Given the description of an element on the screen output the (x, y) to click on. 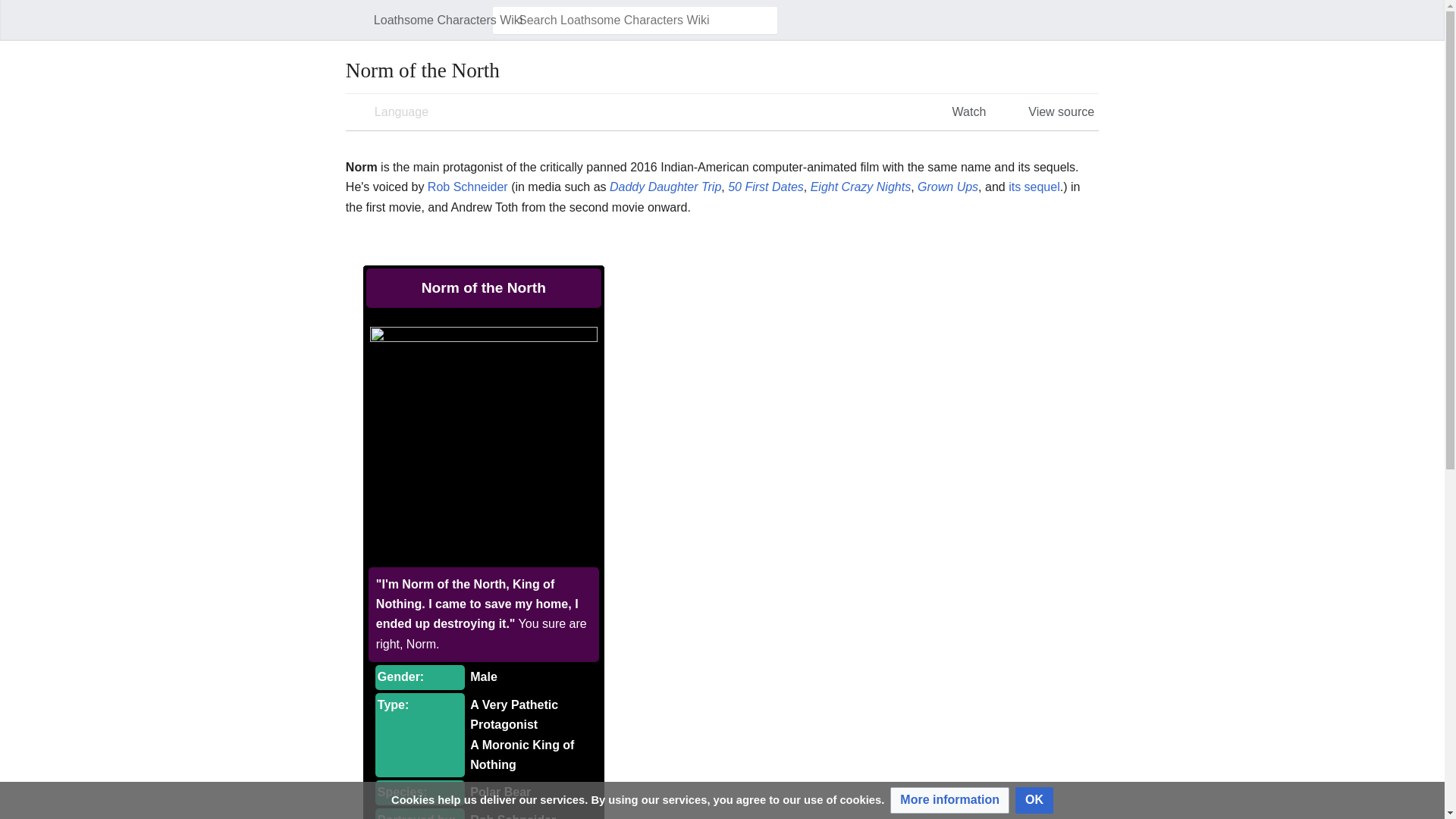
Language (389, 111)
Eight Crazy Nights (860, 186)
w:Eight Crazy Nights (860, 186)
Grown Ups (947, 186)
View source (1048, 111)
its sequel (1034, 186)
Rob Schneider (468, 186)
OK (1033, 800)
More information (949, 800)
Watch (956, 111)
